Given the description of an element on the screen output the (x, y) to click on. 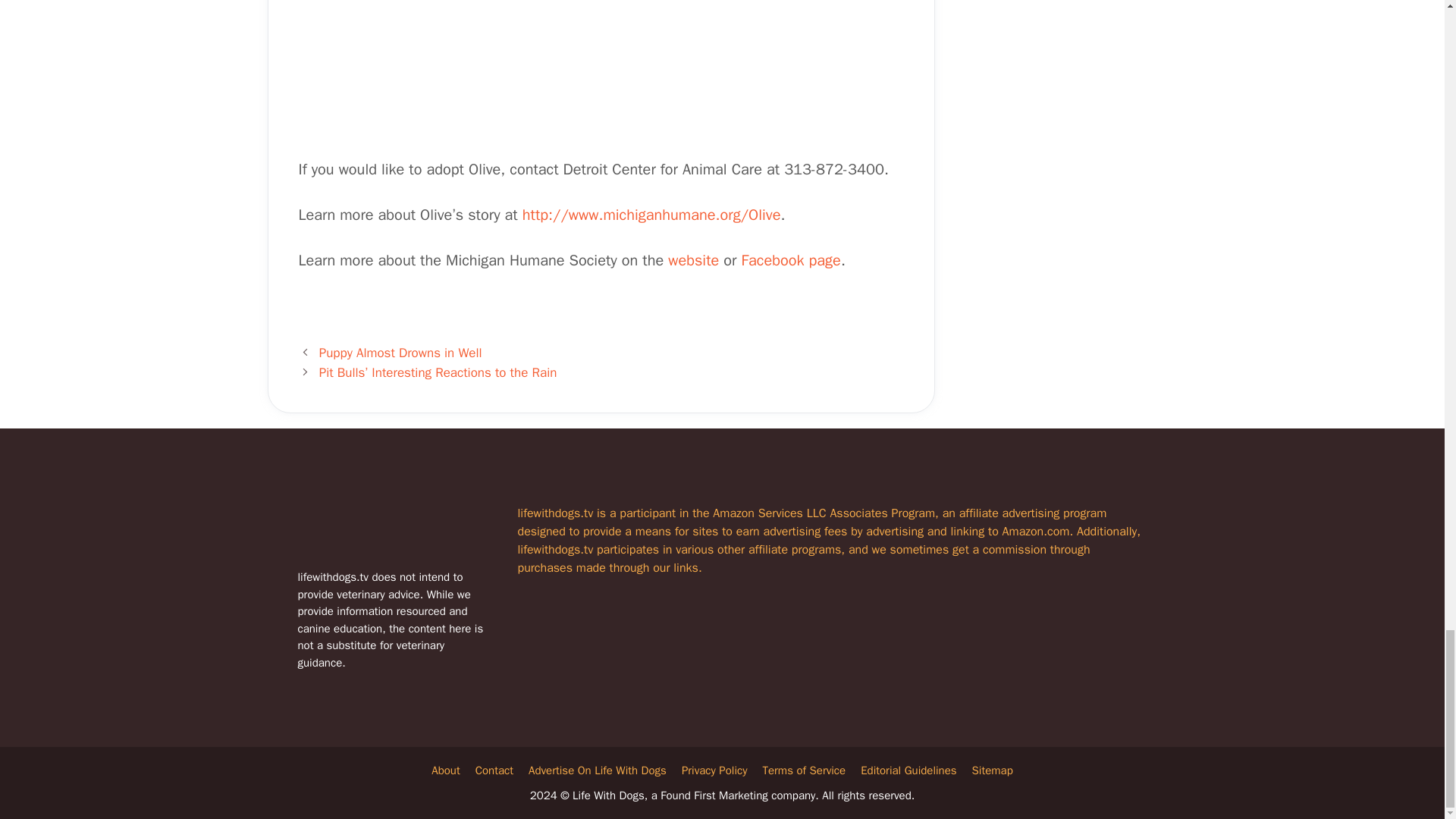
Terms of Service (803, 770)
Sitemap (992, 770)
Privacy Policy (714, 770)
Advertise On Life With Dogs (597, 770)
Contact (494, 770)
About (445, 770)
Editorial Guidelines (908, 770)
website (693, 260)
Michigan Humane Society (693, 260)
Michigan Humane Society - Olive (651, 214)
